Given the description of an element on the screen output the (x, y) to click on. 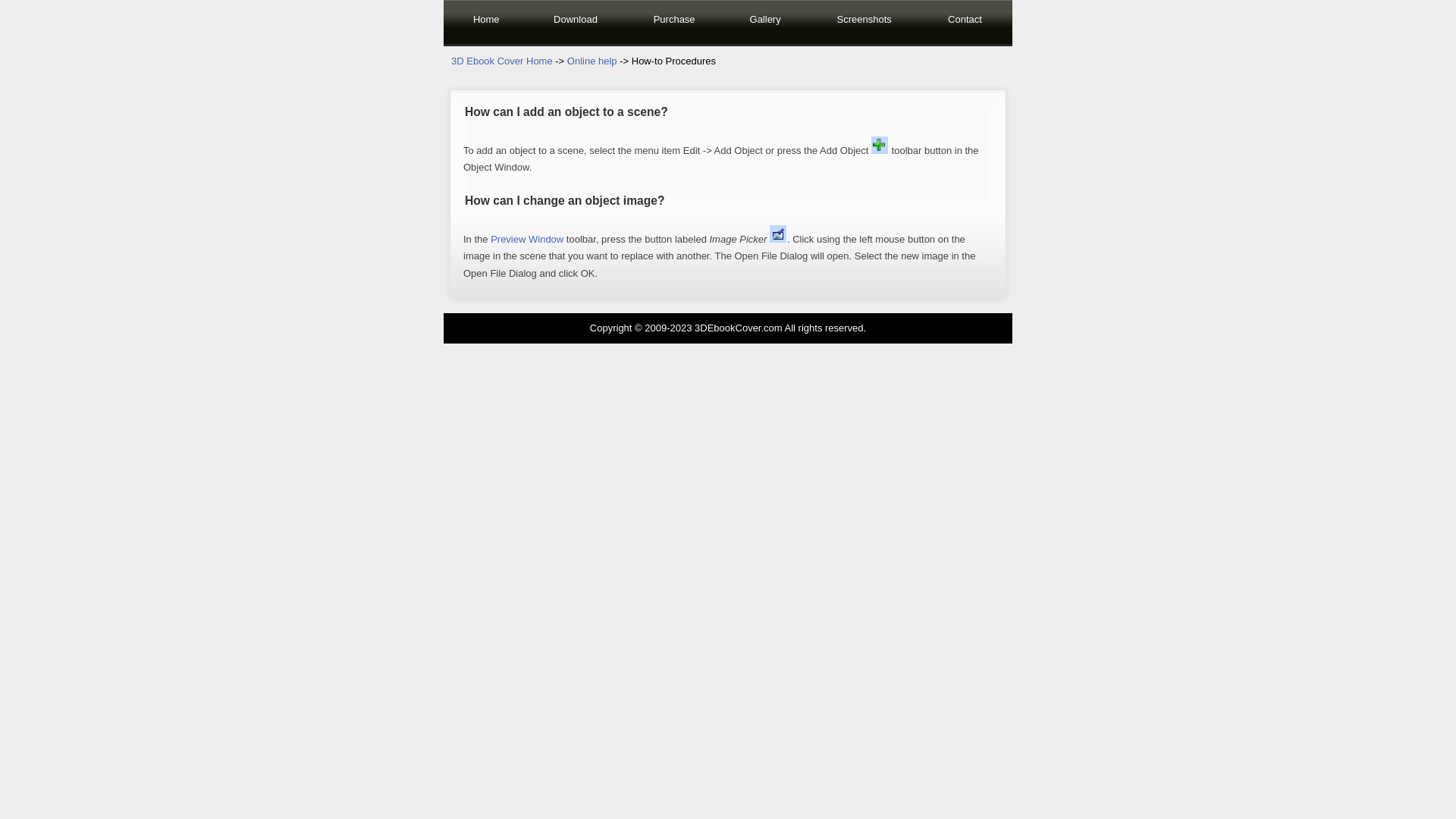
Download Element type: text (575, 21)
Preview Window Element type: text (526, 238)
Home Element type: text (485, 21)
Online help Element type: text (592, 59)
Contact Element type: text (964, 21)
Gallery Element type: text (764, 21)
3D Ebook Cover Home Element type: text (501, 59)
Screenshots Element type: text (864, 21)
Purchase Element type: text (673, 21)
